Given the description of an element on the screen output the (x, y) to click on. 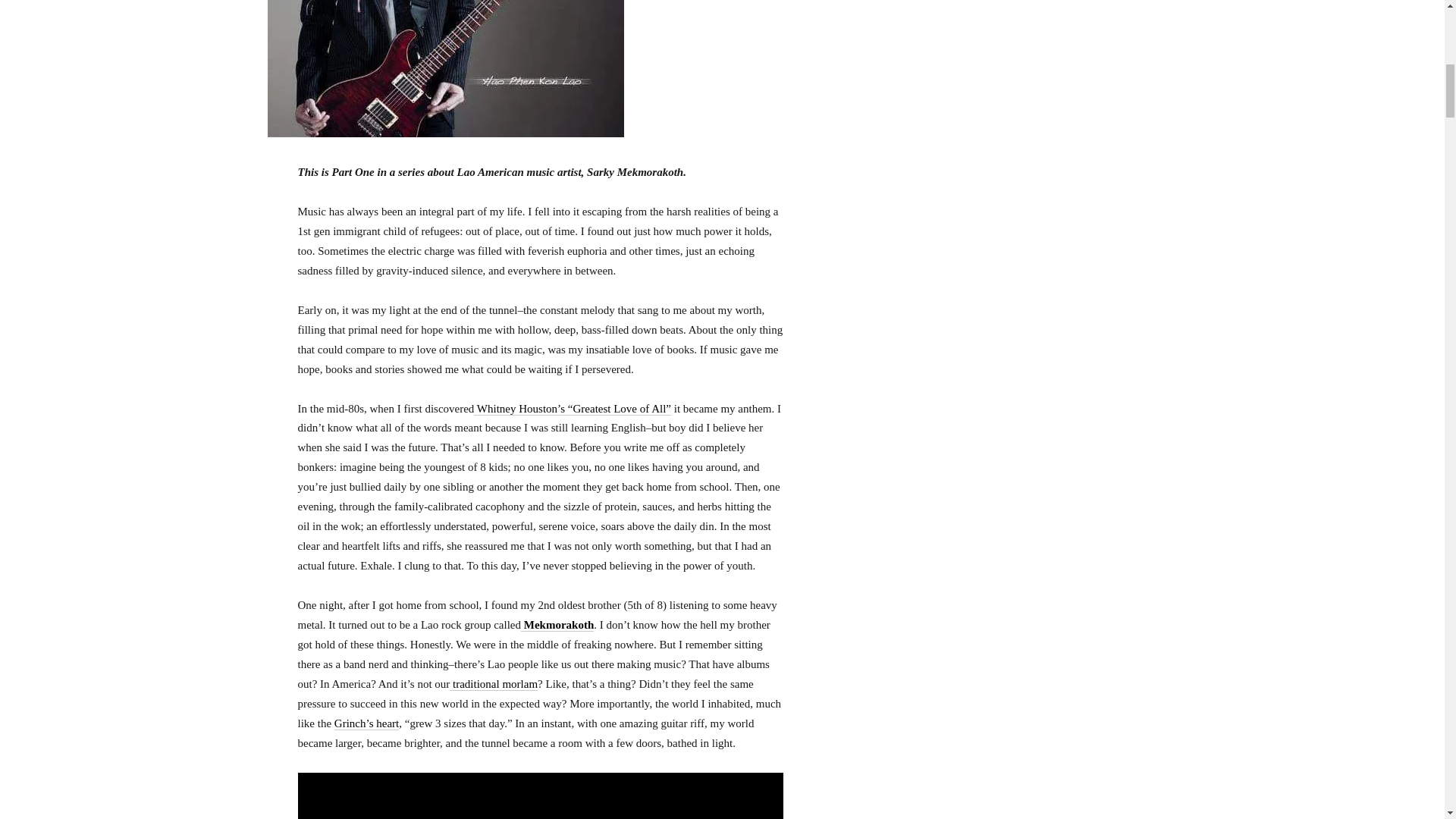
traditional morlam (493, 684)
Permalink to Conversations with Sarky: The Early Years (444, 132)
Mekmorakoth (557, 625)
